Given the description of an element on the screen output the (x, y) to click on. 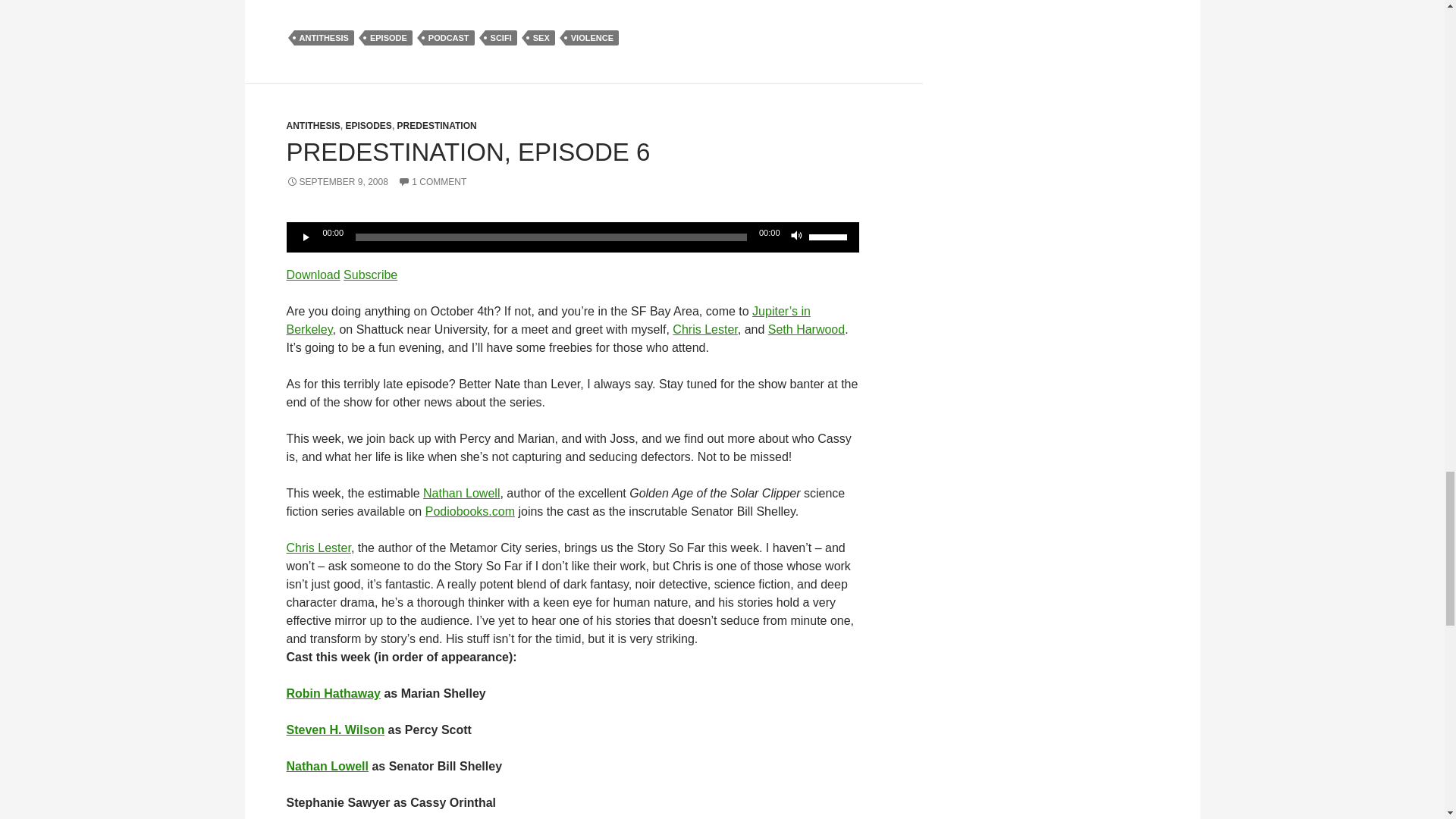
Play (306, 237)
Mute (796, 237)
